Given the description of an element on the screen output the (x, y) to click on. 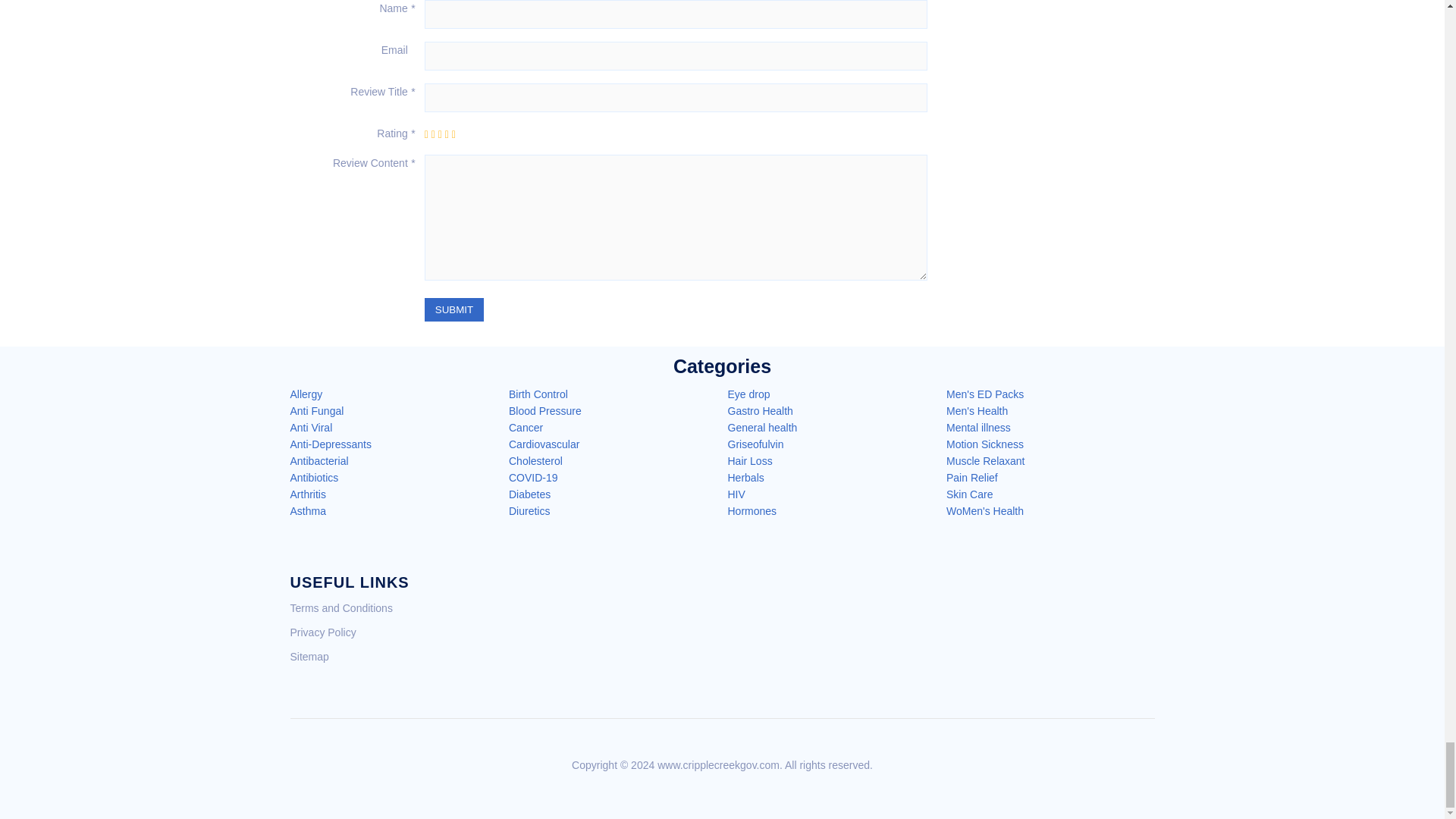
Anti-Depressants (330, 444)
Gastro Health (760, 410)
Submit (454, 309)
Hair Loss (750, 460)
Cancer (525, 427)
Cholesterol (535, 460)
Birth Control (537, 394)
Allergy (305, 394)
Blood Pressure (544, 410)
Diabetes (529, 494)
